Given the description of an element on the screen output the (x, y) to click on. 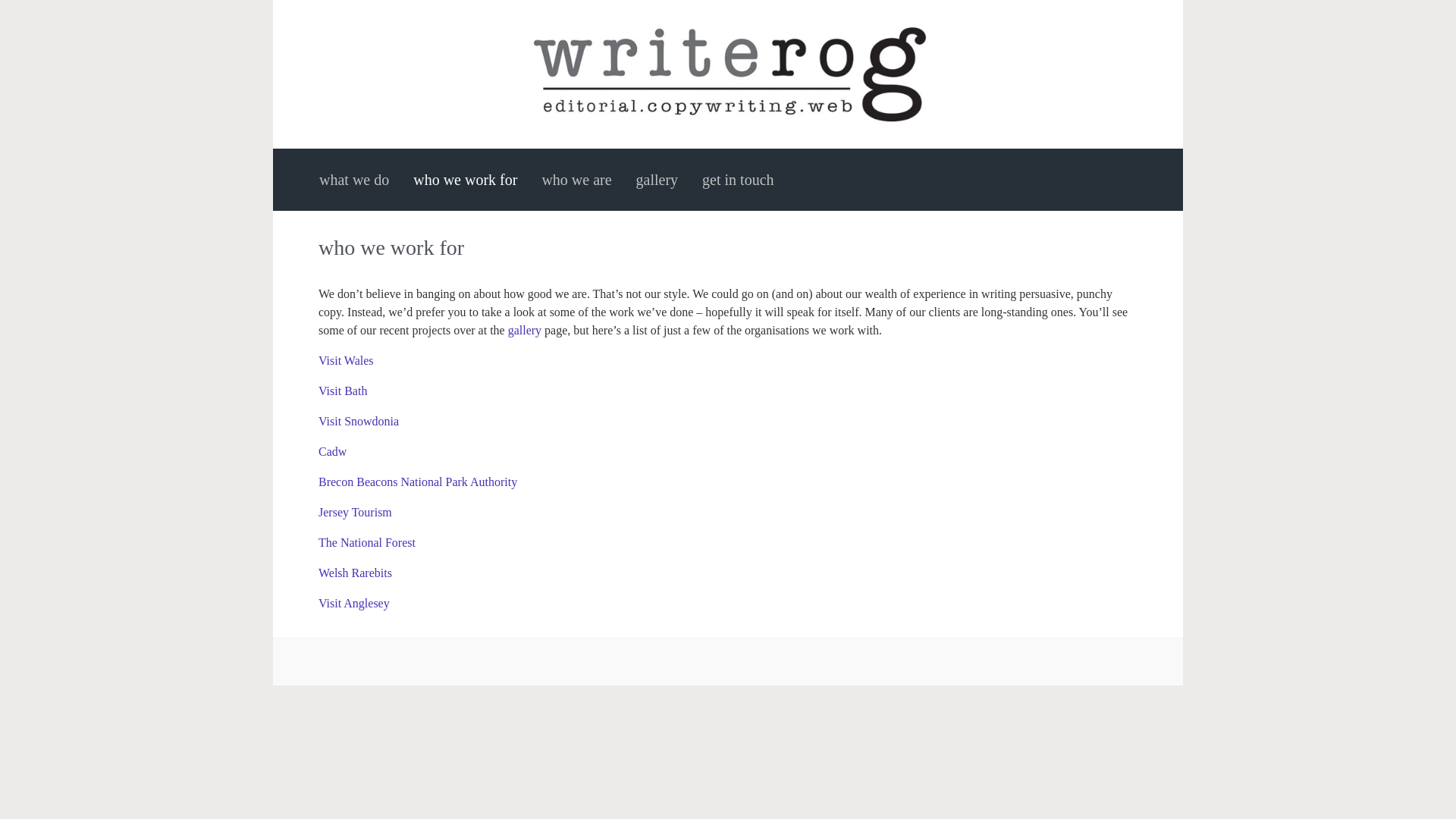
who we work for (464, 179)
Visit Wales (346, 359)
Skip to main content (17, 8)
Visit Bath (342, 390)
Jersey Tourism (354, 512)
Visit Anglesey (354, 603)
who we are (576, 179)
Welsh Rarebits (354, 572)
Visit Snowdonia (358, 420)
what we do (353, 179)
